Given the description of an element on the screen output the (x, y) to click on. 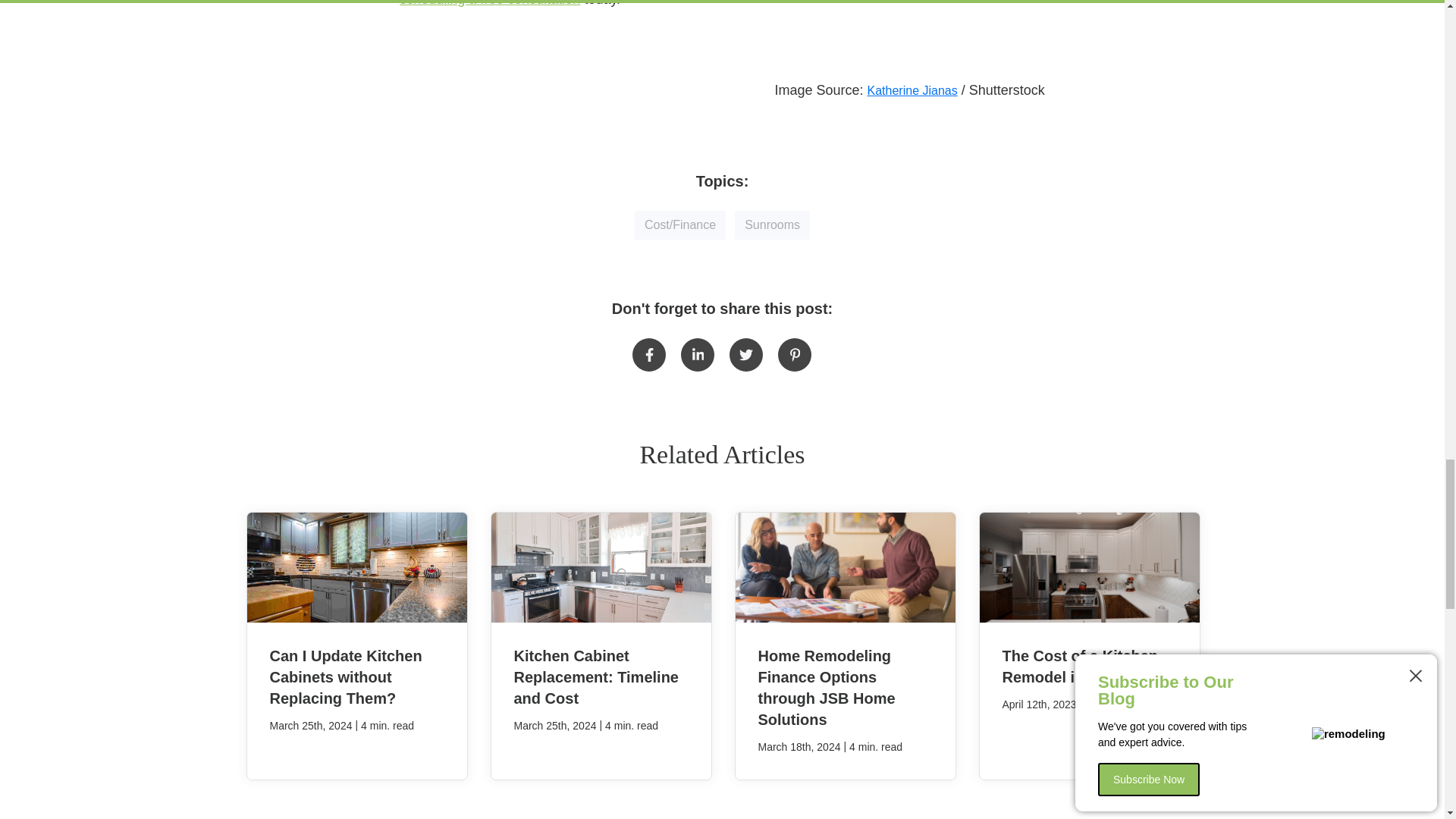
Share on Facebook (648, 354)
Share on Twitter (745, 354)
Share on Pinterest (793, 354)
Sunrooms (772, 224)
Share on Linkedin (697, 354)
